Given the description of an element on the screen output the (x, y) to click on. 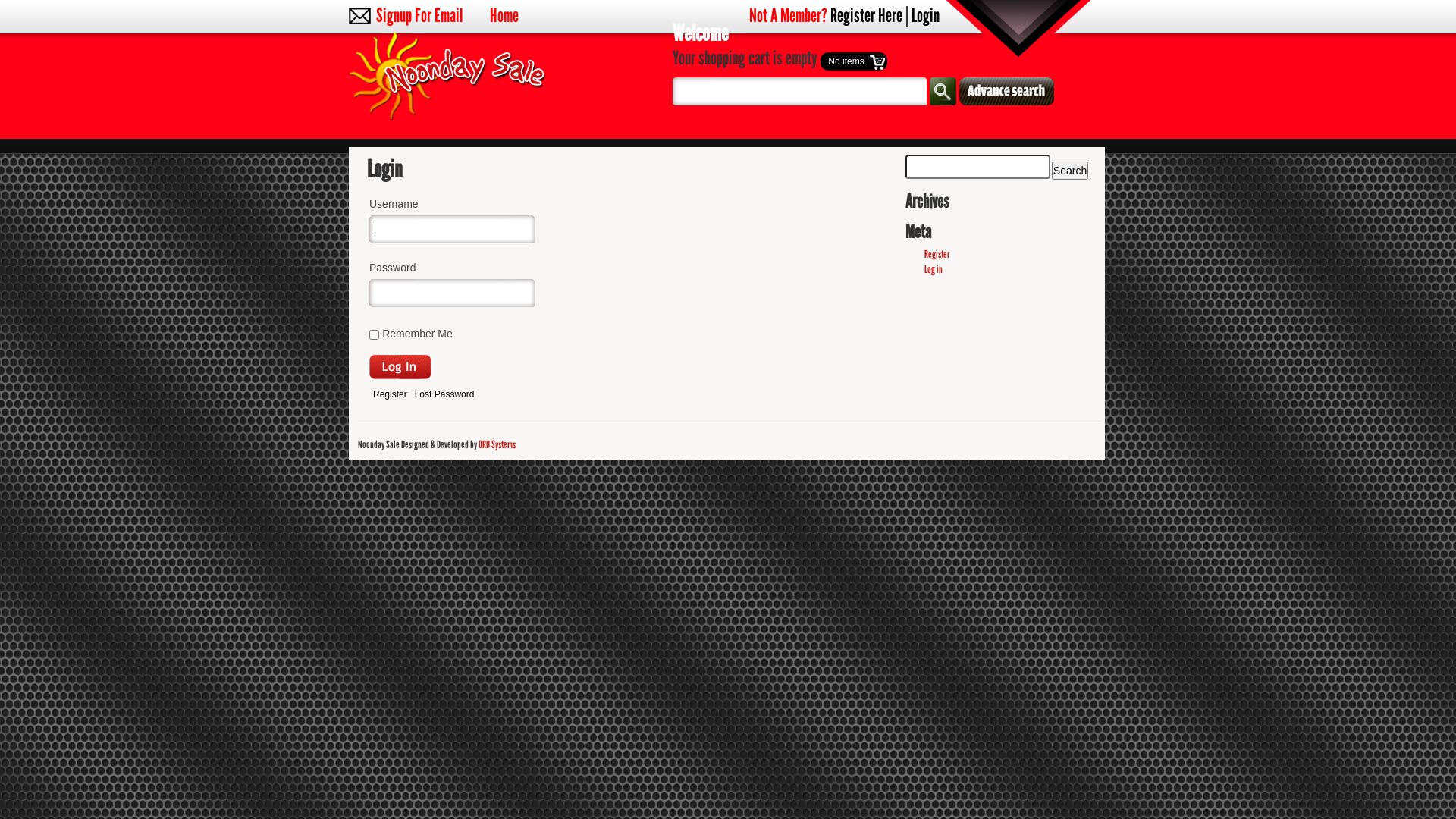
ORB Systems Element type: text (496, 444)
Log In Element type: text (399, 366)
No items Element type: text (853, 61)
Register Element type: text (390, 394)
Search Element type: text (942, 91)
Lost Password Element type: text (444, 394)
Register Here Element type: text (866, 15)
Search Element type: text (1069, 170)
Not A Member? Element type: text (788, 15)
Login Element type: text (925, 15)
Log in Element type: text (933, 269)
Register Element type: text (936, 253)
Signup For Email Element type: text (419, 15)
Home Element type: text (503, 15)
